Given the description of an element on the screen output the (x, y) to click on. 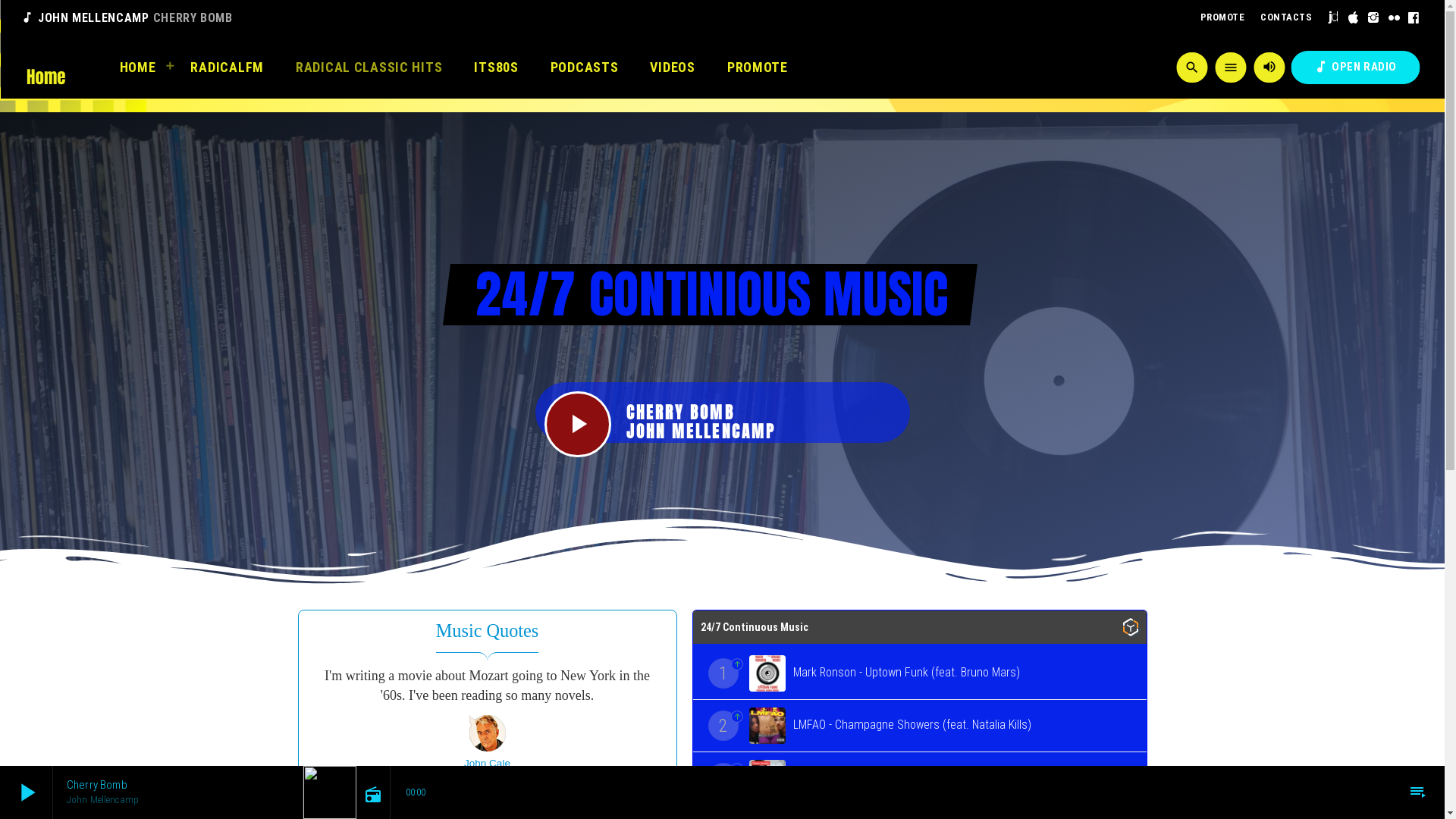
CONTACTS Element type: text (1286, 17)
PODCASTS Element type: text (584, 66)
PROMOTE Element type: text (1222, 17)
search Element type: text (1191, 67)
Listen on Online Radio Box! Element type: hover (1130, 629)
3 Train - Drops of Jupiter Element type: text (919, 777)
PROMOTE Element type: text (757, 66)
1 Mark Ronson - Uptown Funk (feat. Bruno Mars) Element type: text (919, 673)
VIDEOS Element type: text (671, 66)
ITS80S Element type: text (495, 66)
RADICALFM Element type: text (226, 66)
menu Element type: text (1230, 67)
RADICAL CLASSIC HITS Element type: text (368, 66)
play_arrow Element type: text (577, 424)
HOME Element type: text (139, 66)
2 LMFAO - Champagne Showers (feat. Natalia Kills) Element type: text (919, 724)
Home Element type: text (45, 67)
music_note
OPEN RADIO Element type: text (1354, 67)
24/7 Continuous Music Element type: text (919, 626)
